Given the description of an element on the screen output the (x, y) to click on. 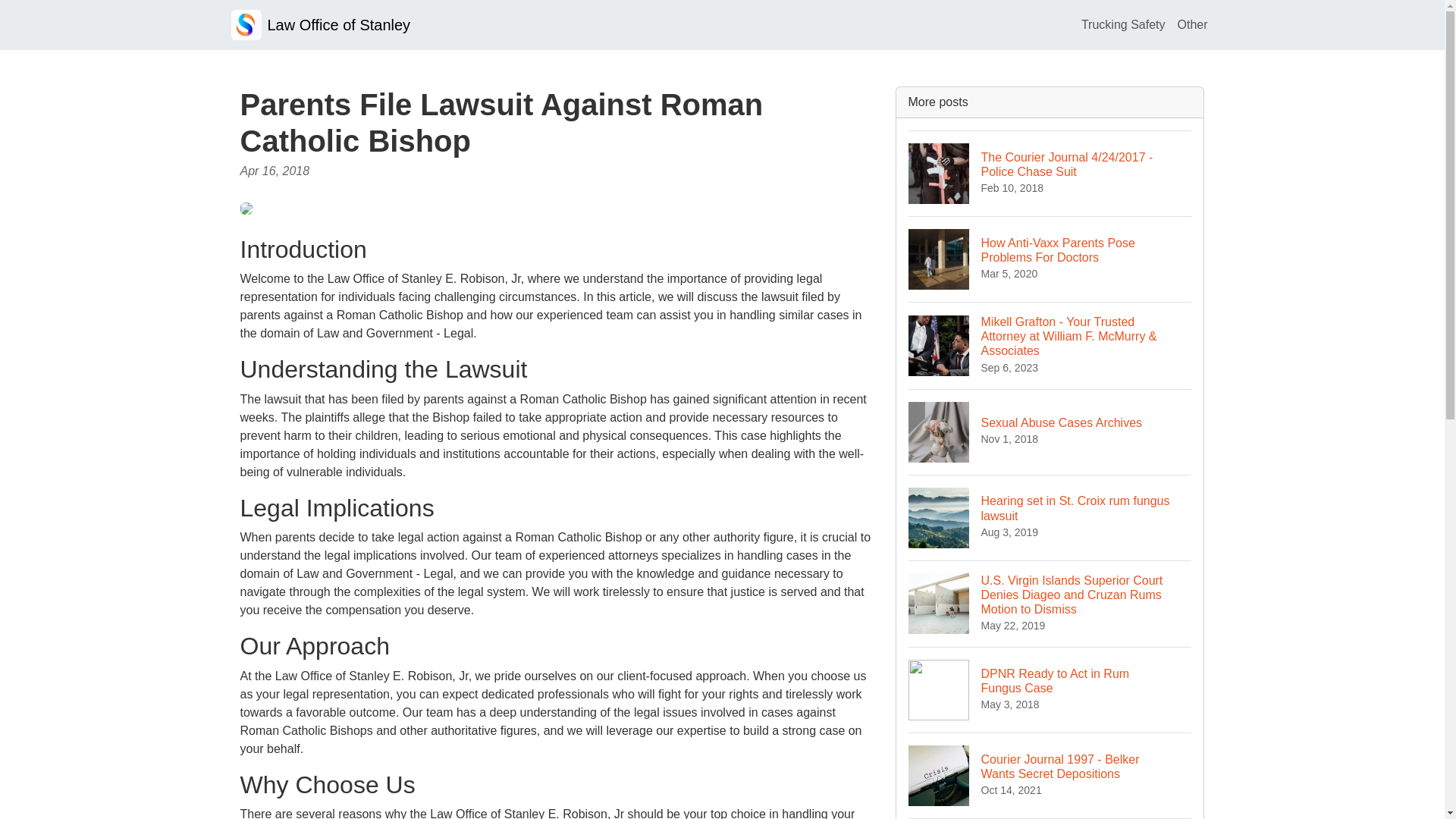
Law Office of Stanley (1050, 432)
Other (1050, 517)
Trucking Safety (320, 24)
